Given the description of an element on the screen output the (x, y) to click on. 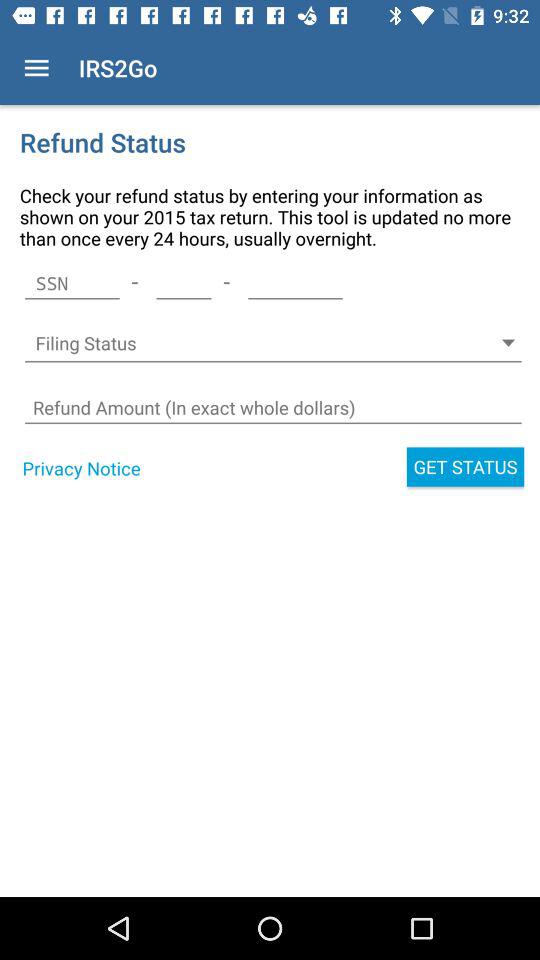
press the icon to the right of the - icon (183, 283)
